Given the description of an element on the screen output the (x, y) to click on. 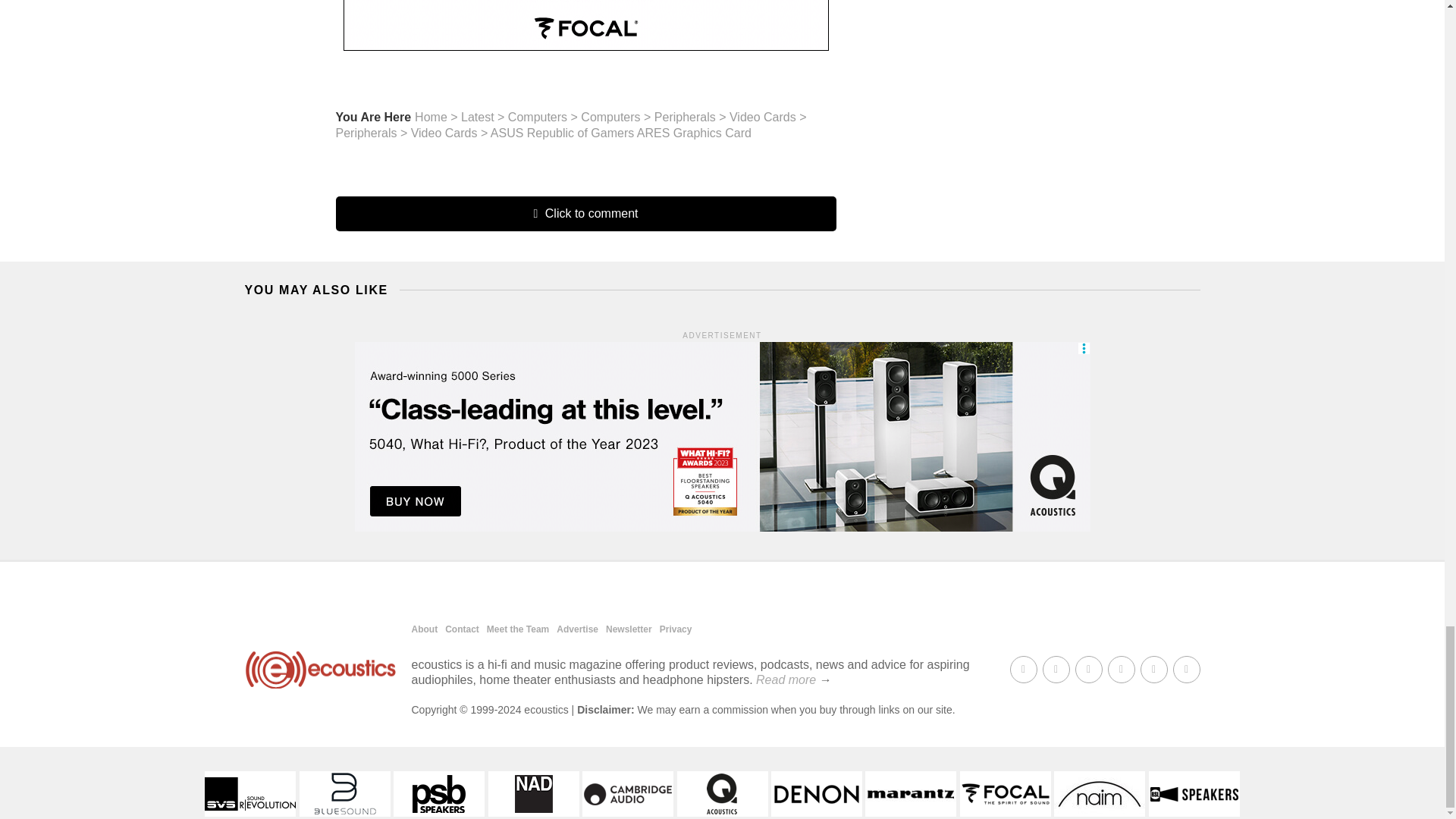
3rd party ad content (585, 25)
